Given the description of an element on the screen output the (x, y) to click on. 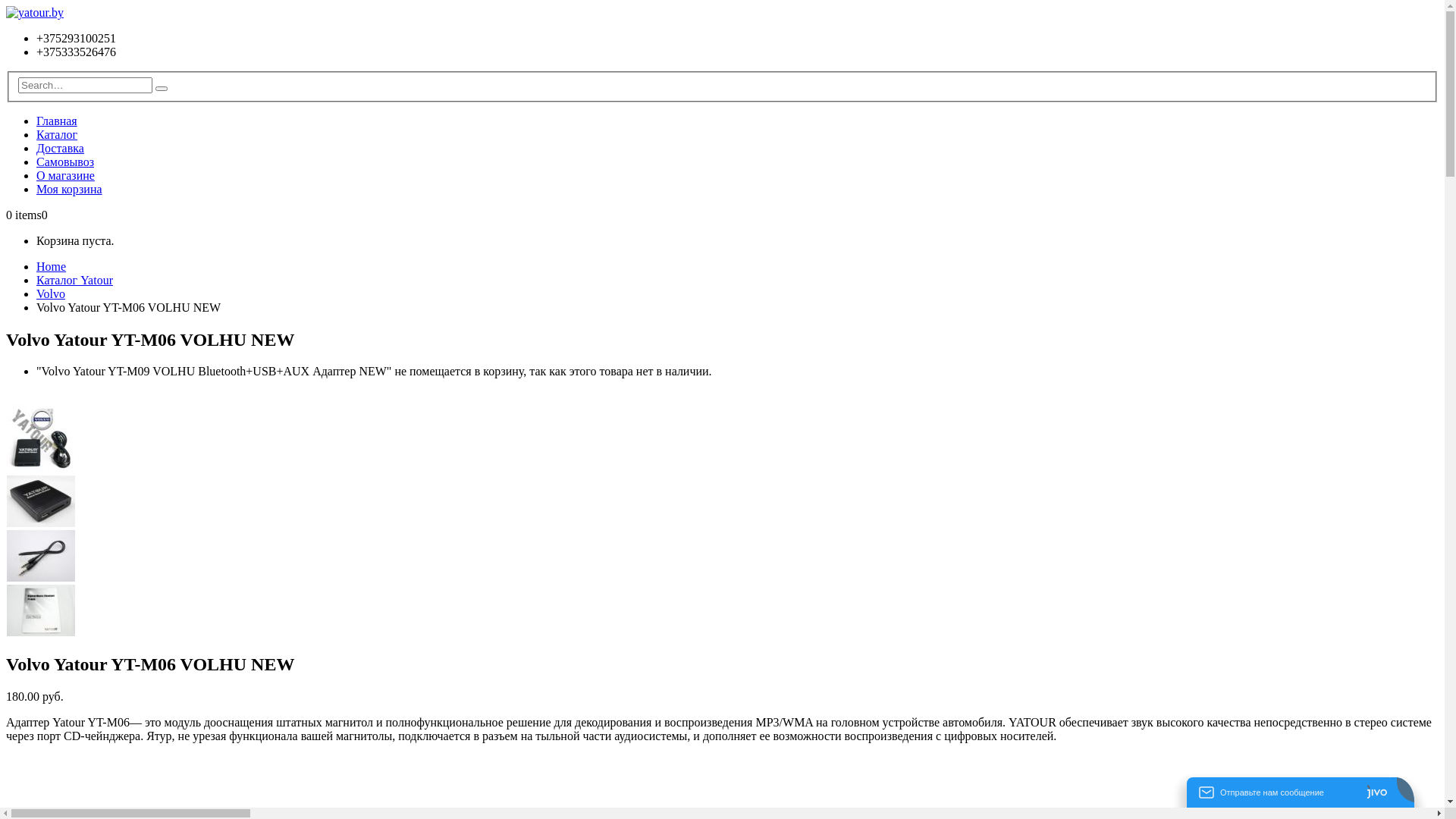
yatour.by - +375293100951 Element type: hover (34, 12)
Home Element type: text (50, 266)
Search Element type: hover (161, 88)
Volvo Element type: text (50, 293)
